Given the description of an element on the screen output the (x, y) to click on. 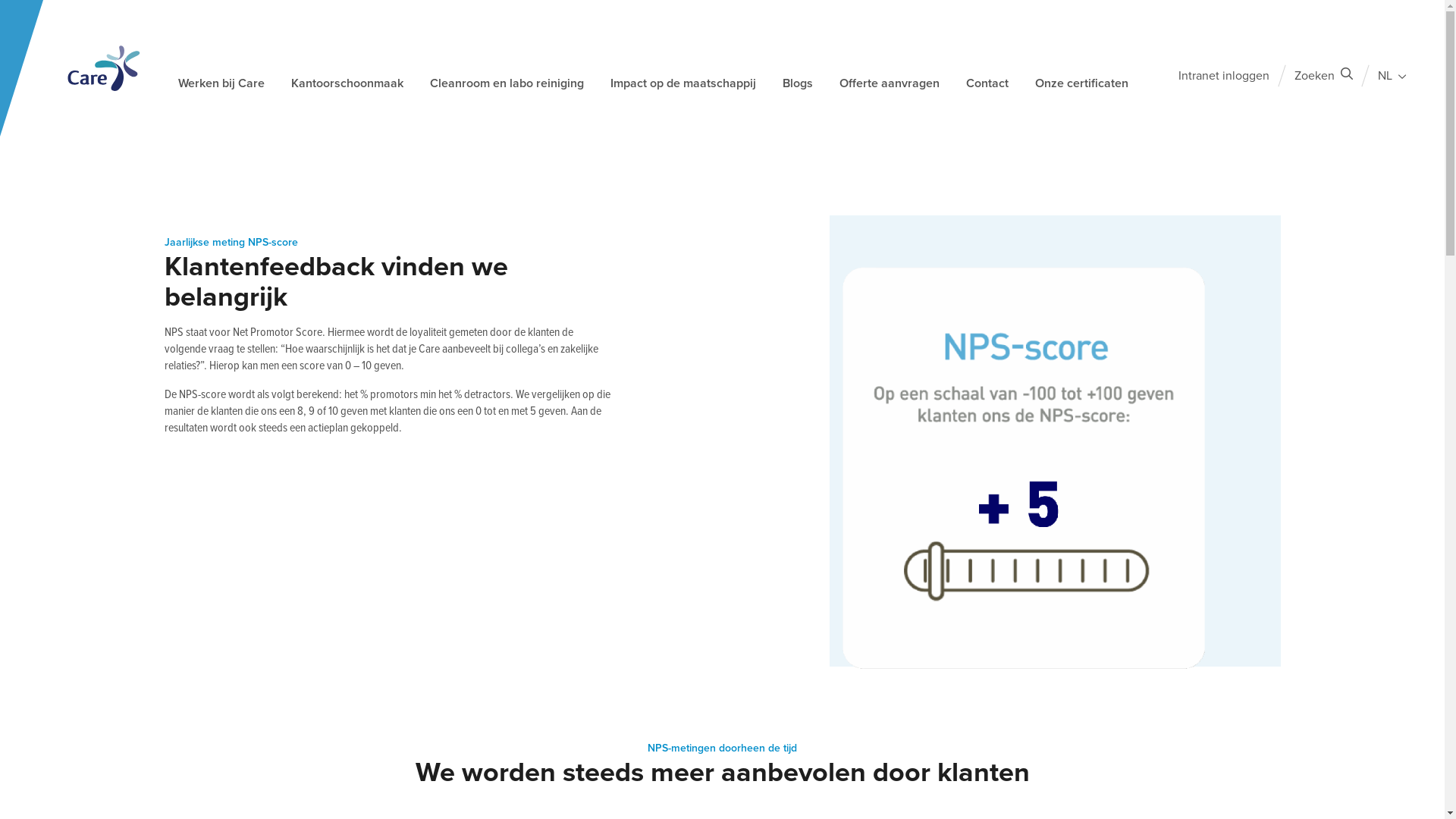
Cleanroom en labo reiniging Element type: text (506, 87)
Zoeken Element type: text (1323, 75)
Offerte aanvragen Element type: text (889, 87)
Blogs Element type: text (797, 87)
Impact op de maatschappij Element type: text (683, 87)
Logo Element type: hover (103, 68)
Onze certificaten Element type: text (1081, 87)
Intranet inloggen Element type: text (1223, 75)
Kantoorschoonmaak Element type: text (347, 87)
Contact Element type: text (987, 87)
Werken bij Care Element type: text (221, 87)
